Given the description of an element on the screen output the (x, y) to click on. 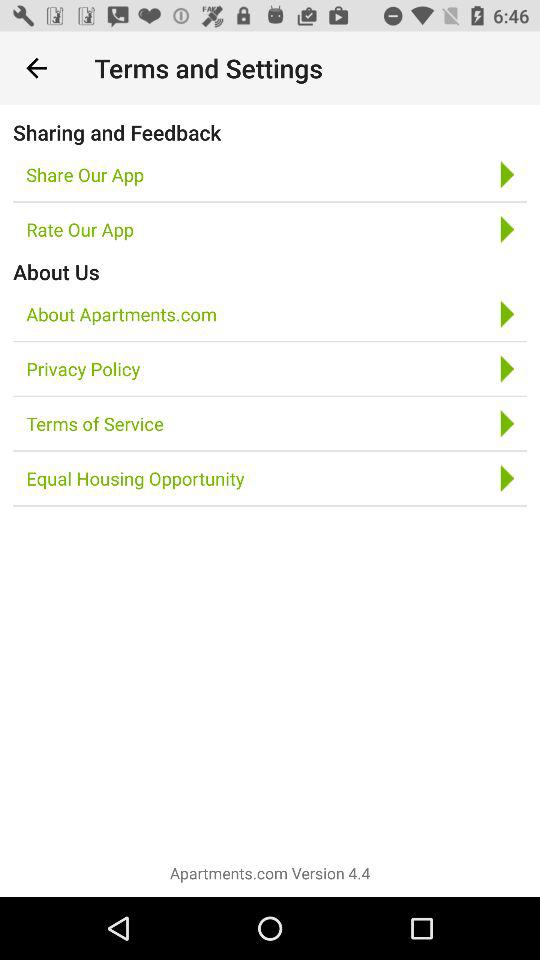
turn off icon above share our app (117, 132)
